Given the description of an element on the screen output the (x, y) to click on. 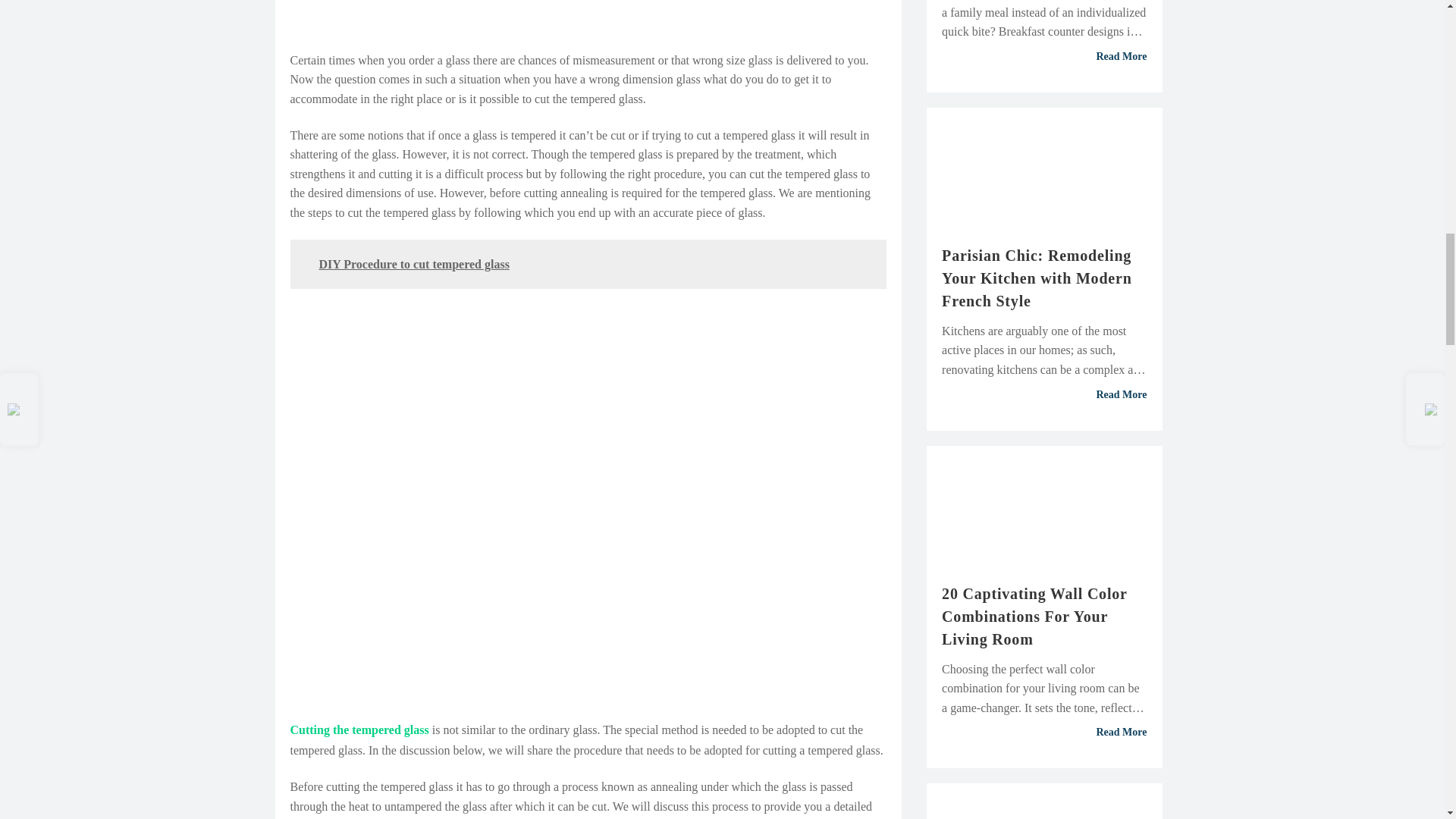
Read More (1044, 395)
Cutting the tempered glass (358, 730)
20 Captivating Wall Color Combinations For Your Living Room (1044, 616)
Read More (1044, 56)
